Given the description of an element on the screen output the (x, y) to click on. 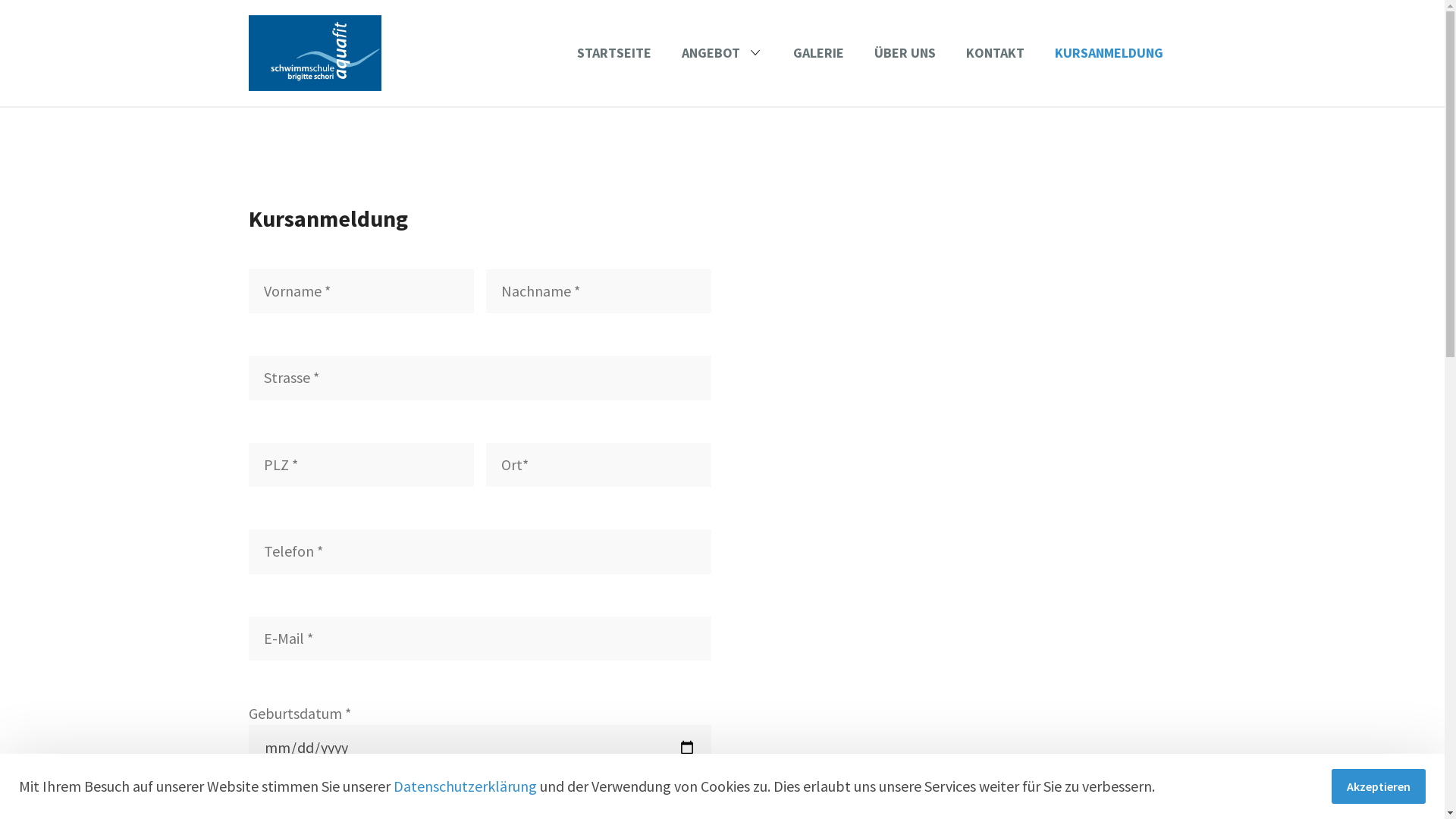
KONTAKT Element type: text (994, 52)
KURSANMELDUNG Element type: text (1107, 52)
GALERIE Element type: text (818, 52)
ANGEBOT Element type: text (721, 52)
STARTSEITE Element type: text (613, 52)
